Given the description of an element on the screen output the (x, y) to click on. 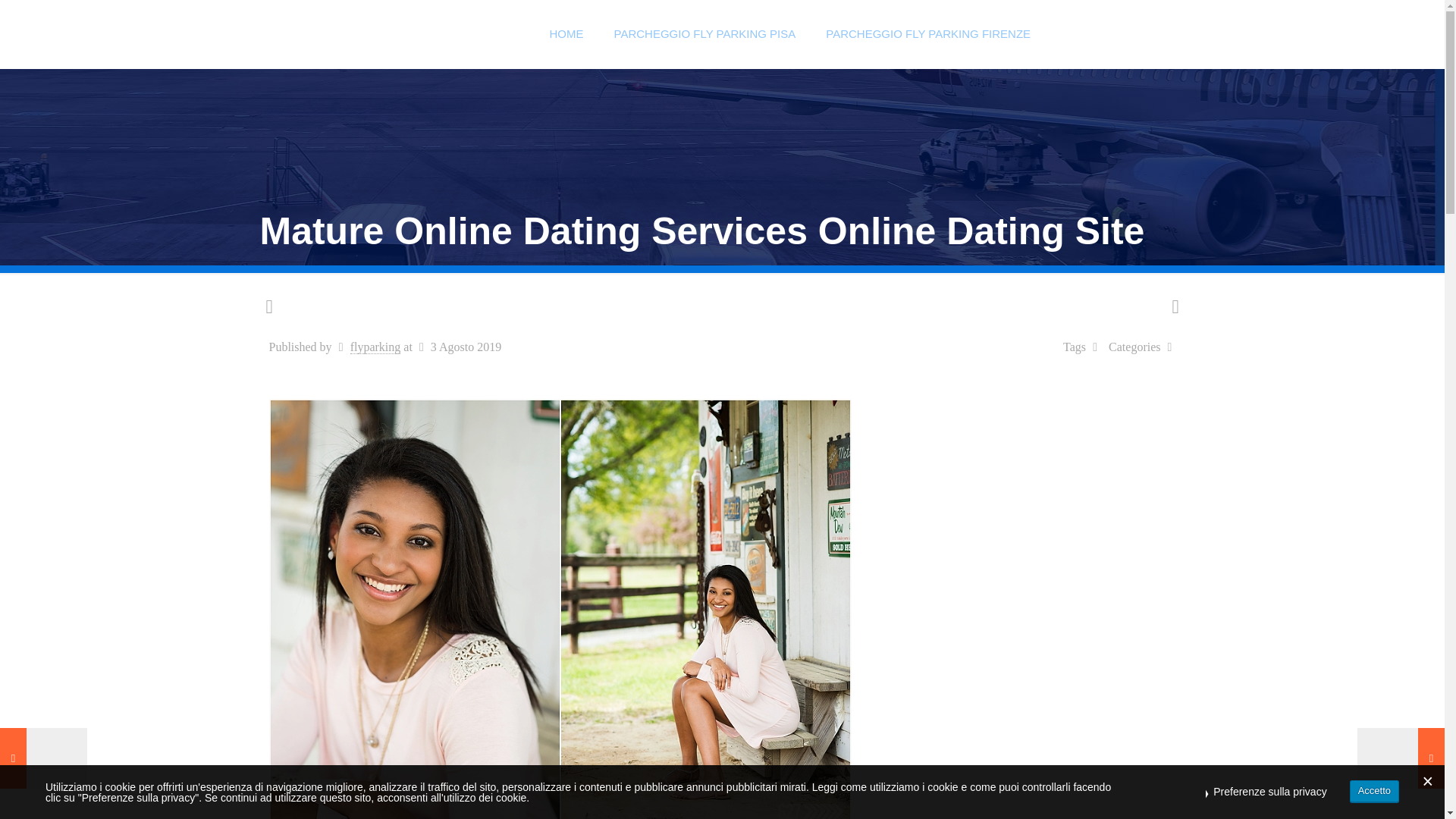
PARCHEGGIO FLY PARKING FIRENZE (927, 33)
flyparking (375, 346)
HOME (566, 33)
Flyparking Pisa e Firenze (397, 33)
PARCHEGGIO FLY PARKING PISA (704, 33)
